Given the description of an element on the screen output the (x, y) to click on. 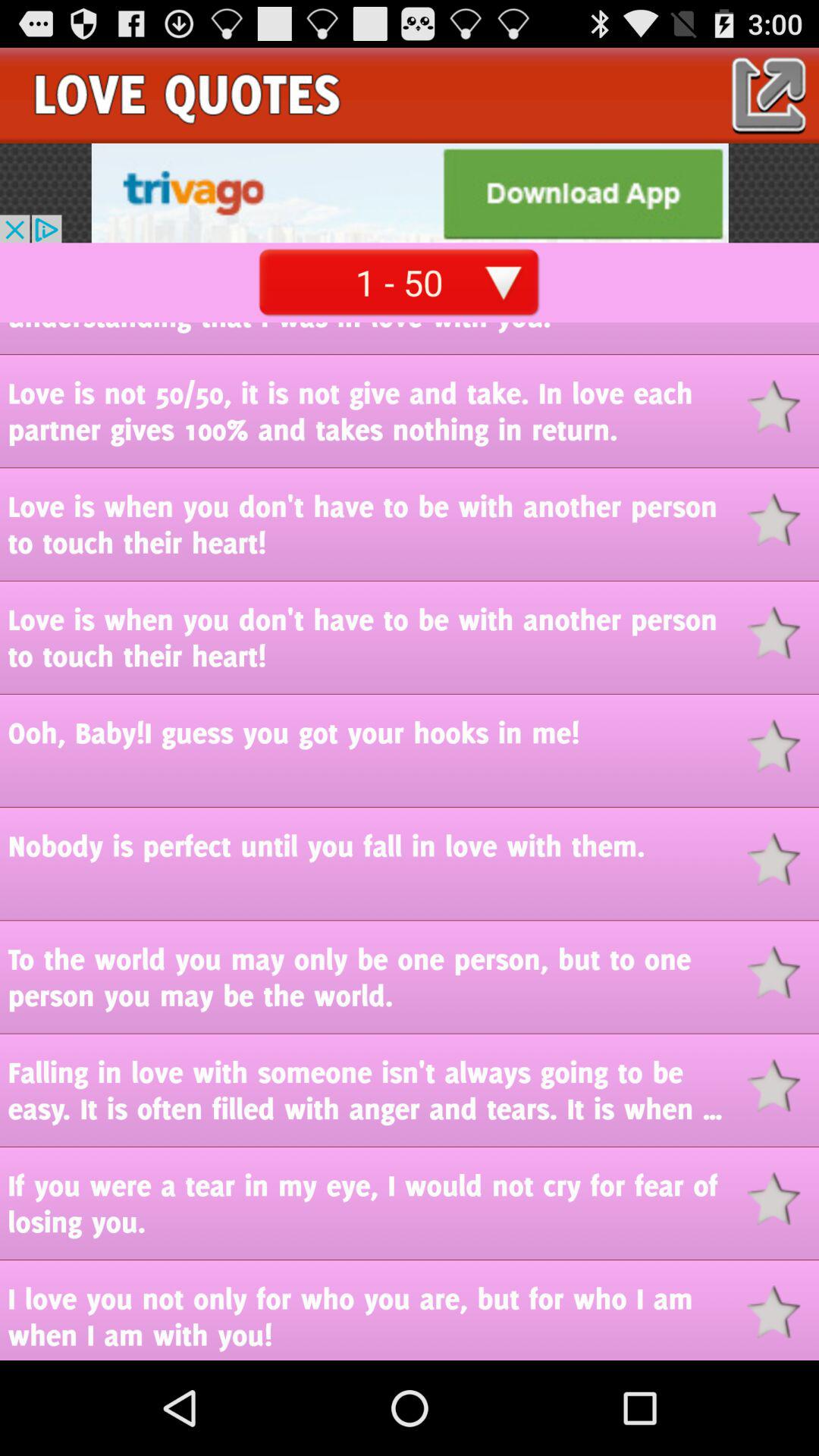
bookmark button (783, 406)
